Given the description of an element on the screen output the (x, y) to click on. 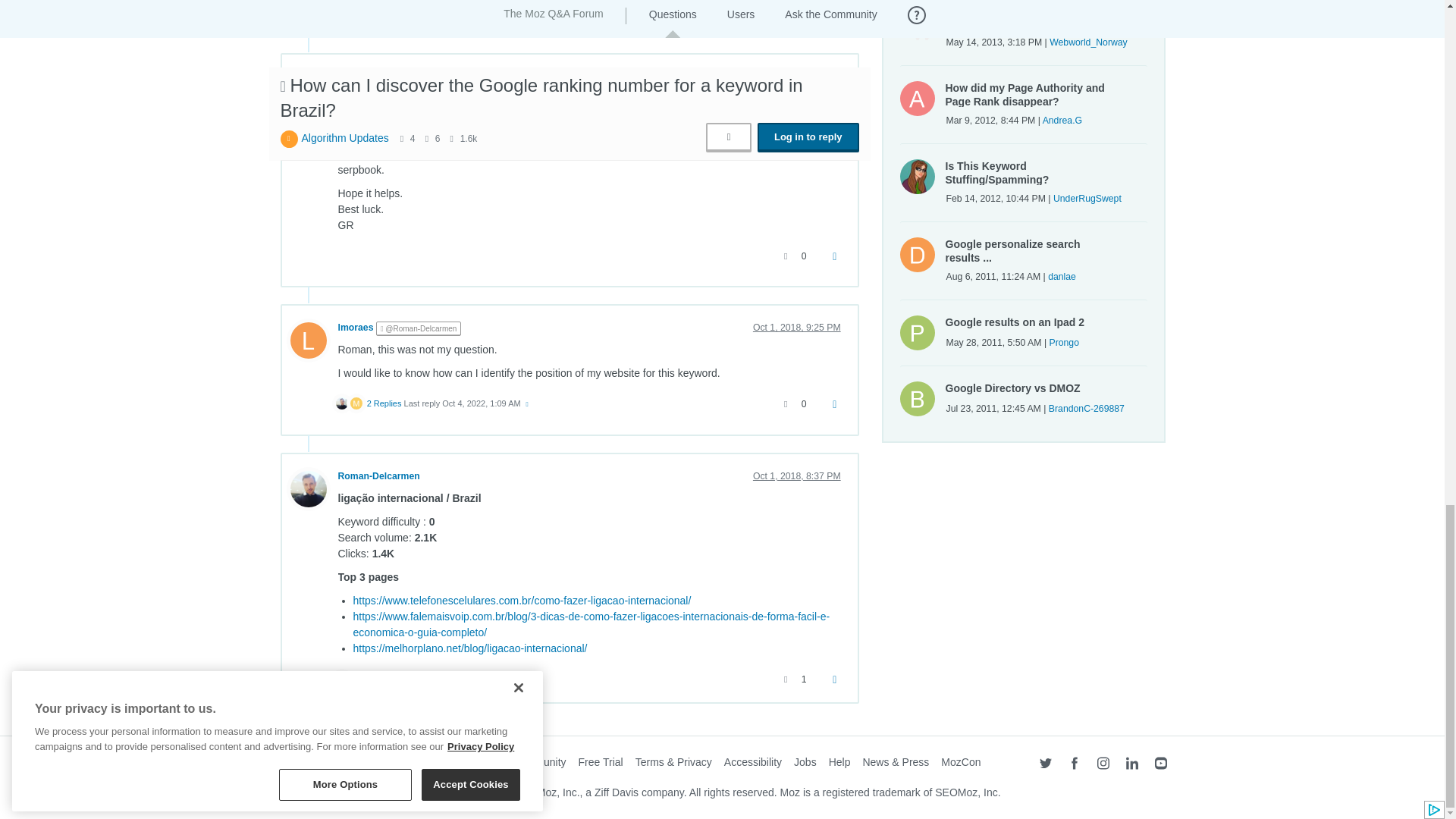
Moz logo (303, 765)
